Given the description of an element on the screen output the (x, y) to click on. 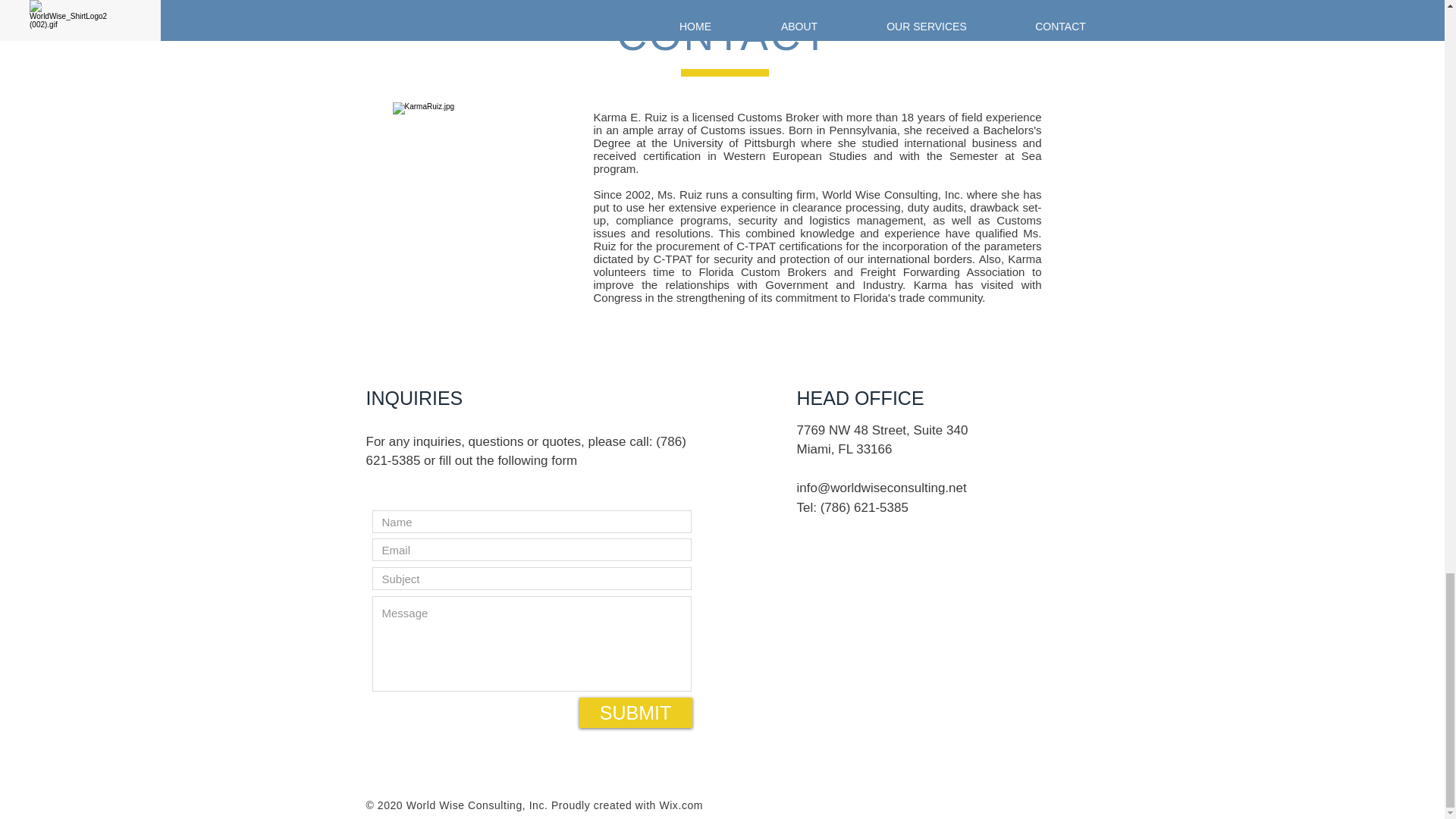
SUBMIT (636, 712)
Wix.com (681, 805)
